Given the description of an element on the screen output the (x, y) to click on. 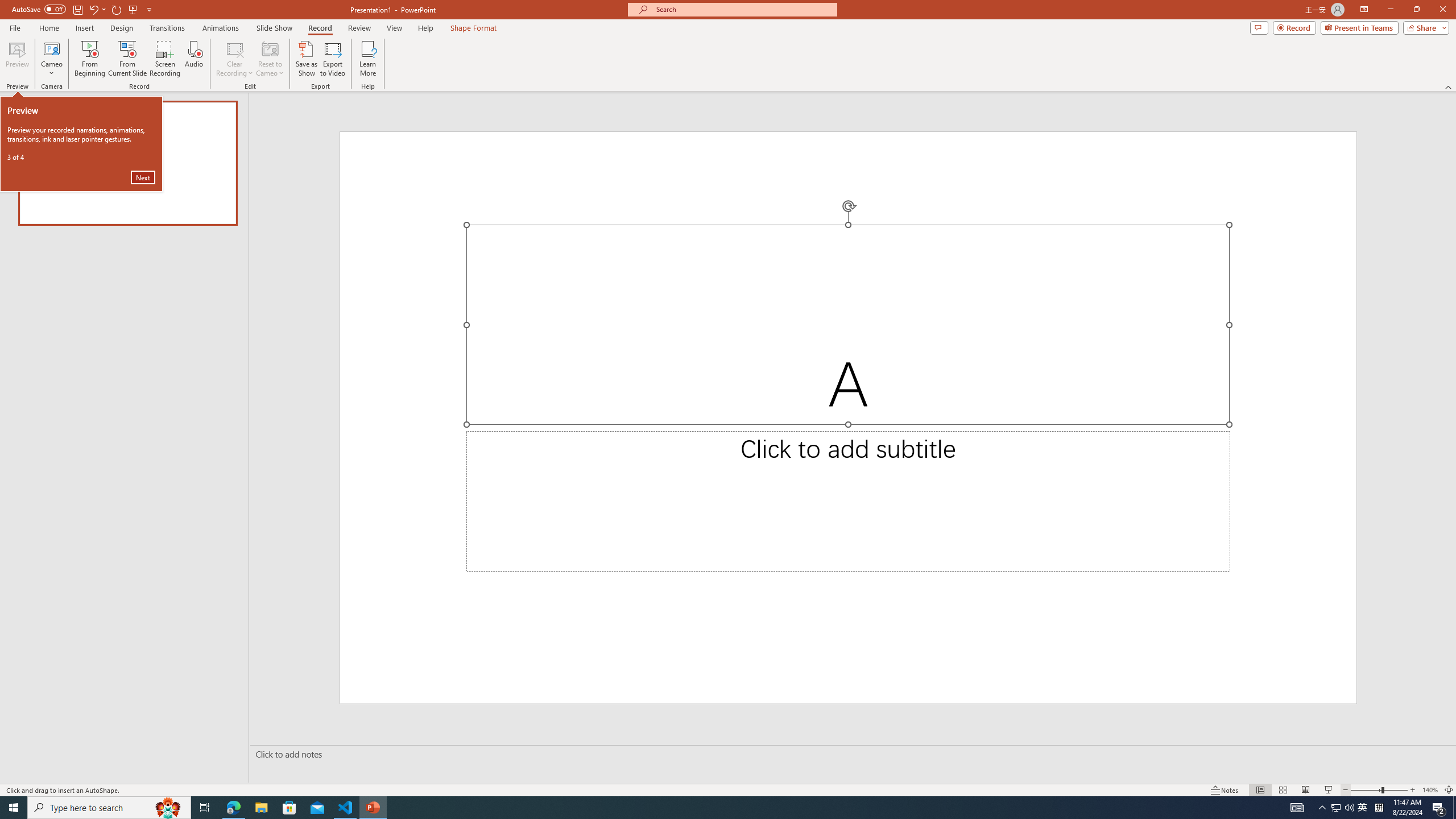
Clear Recording (234, 58)
